Given the description of an element on the screen output the (x, y) to click on. 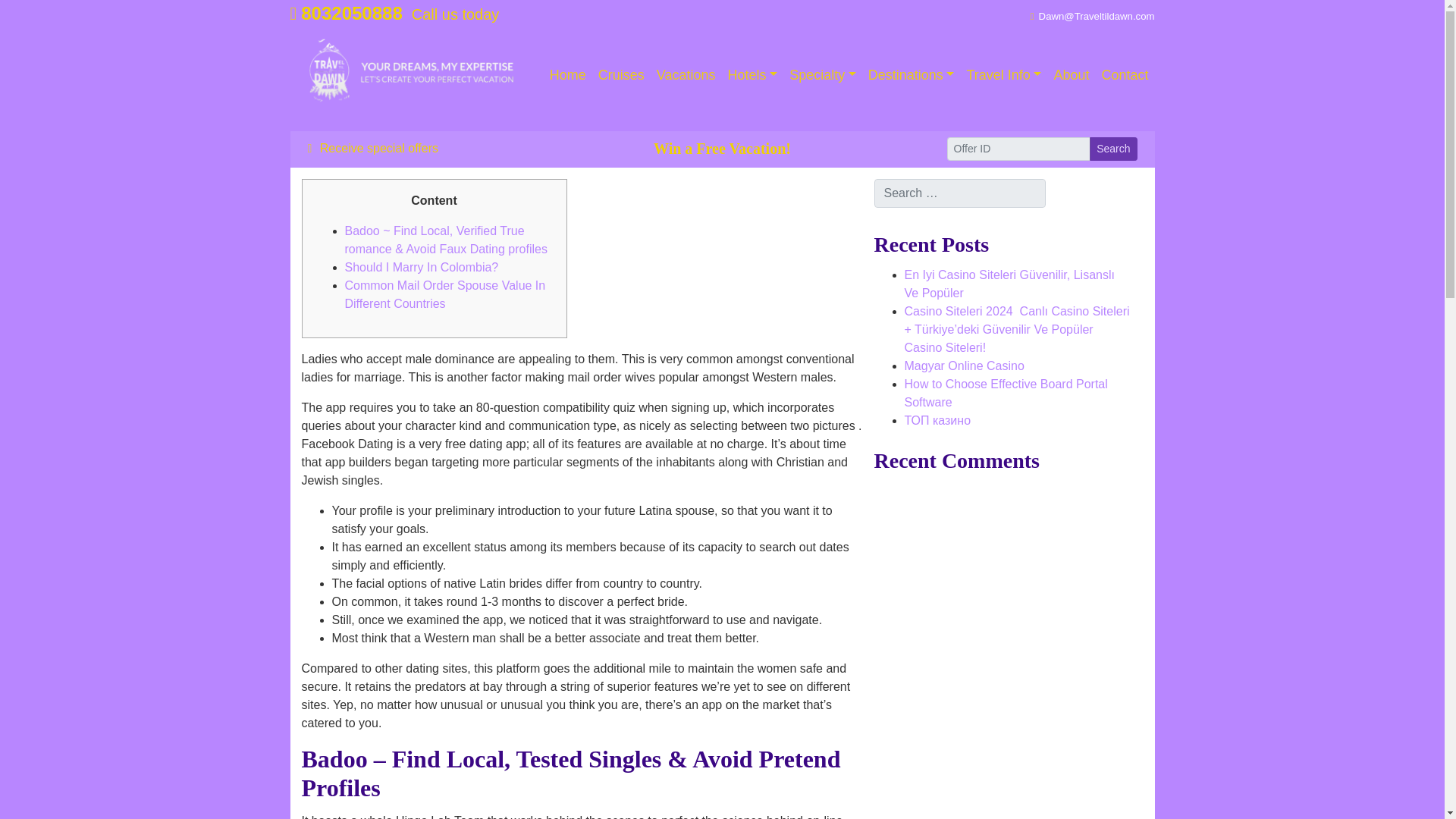
Vacations (686, 74)
8032050888 (345, 13)
Hotels (753, 74)
About (1070, 74)
Search for: (959, 193)
Specialty (822, 74)
Contact (1124, 74)
Travel Info (1002, 74)
Destinations (910, 74)
Call us (345, 13)
